Given the description of an element on the screen output the (x, y) to click on. 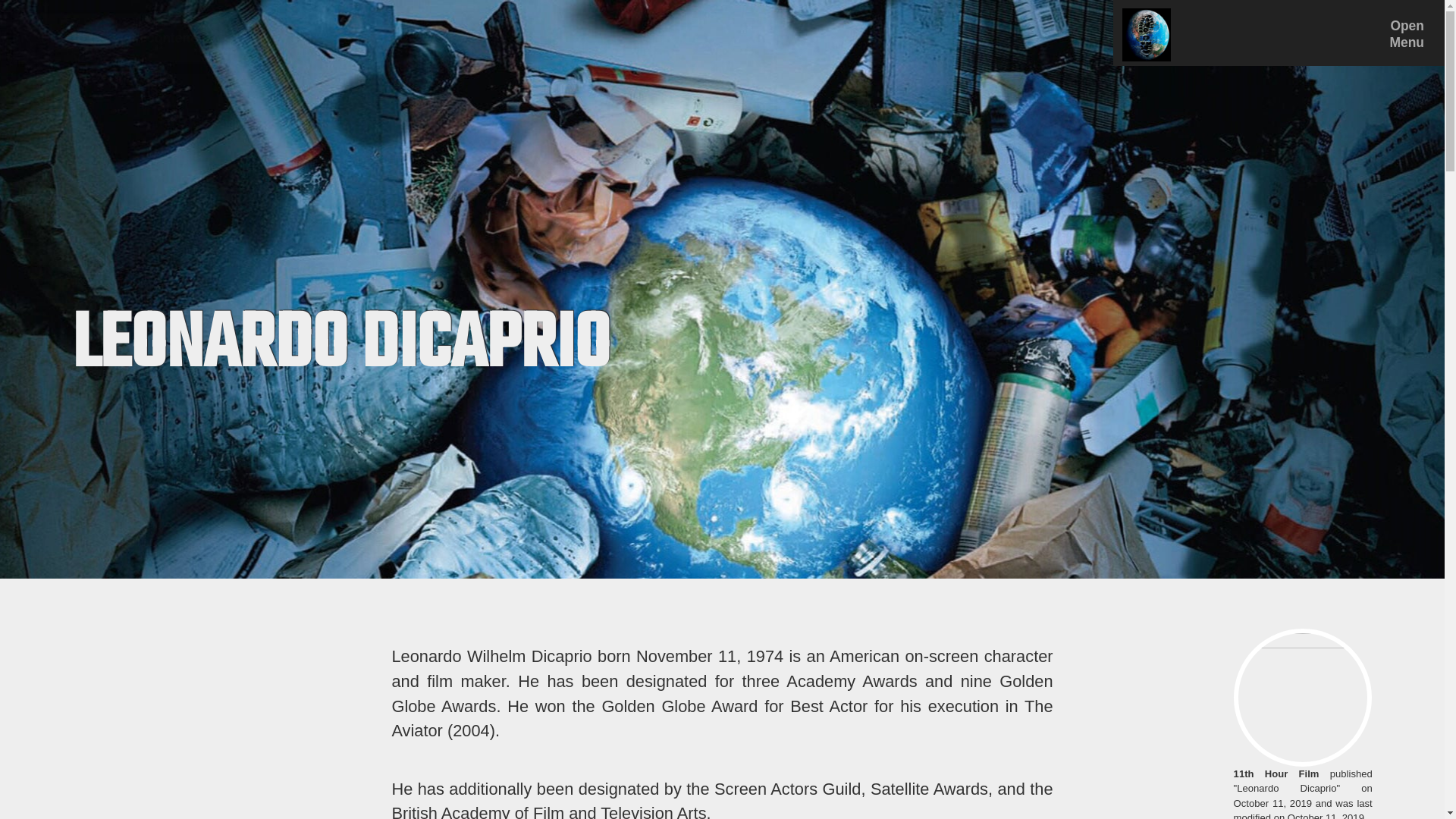
Skip to the main content Element type: text (117, 37)
Open
Menu Element type: text (1269, 34)
